Given the description of an element on the screen output the (x, y) to click on. 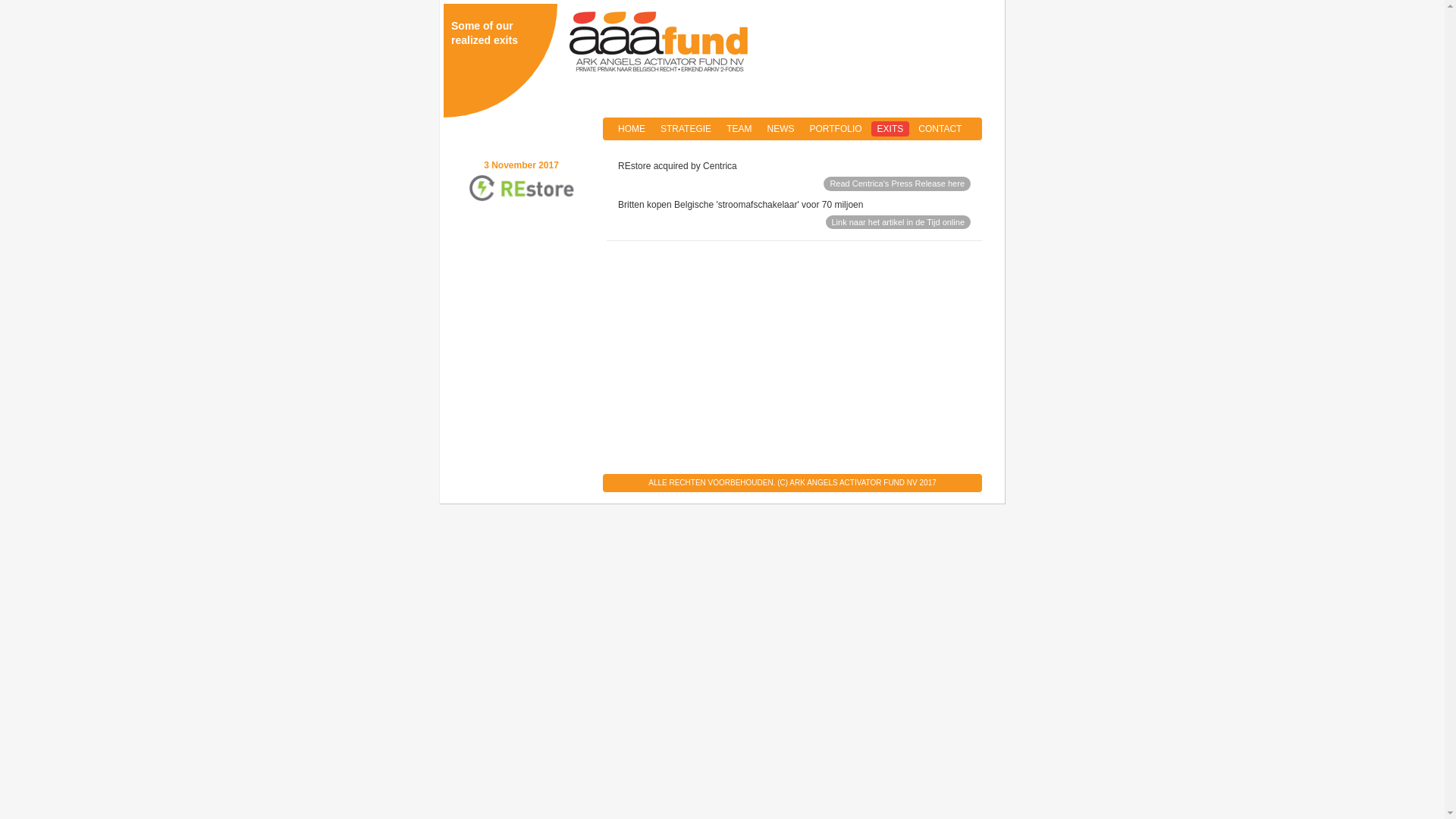
CONTACT Element type: text (939, 128)
PORTFOLIO Element type: text (835, 128)
HOME Element type: text (631, 128)
TEAM Element type: text (738, 128)
STRATEGIE Element type: text (685, 128)
Read Centrica's Press Release here Element type: text (896, 183)
NEWS Element type: text (780, 128)
Link naar het artikel in de Tijd online Element type: text (897, 222)
